Given the description of an element on the screen output the (x, y) to click on. 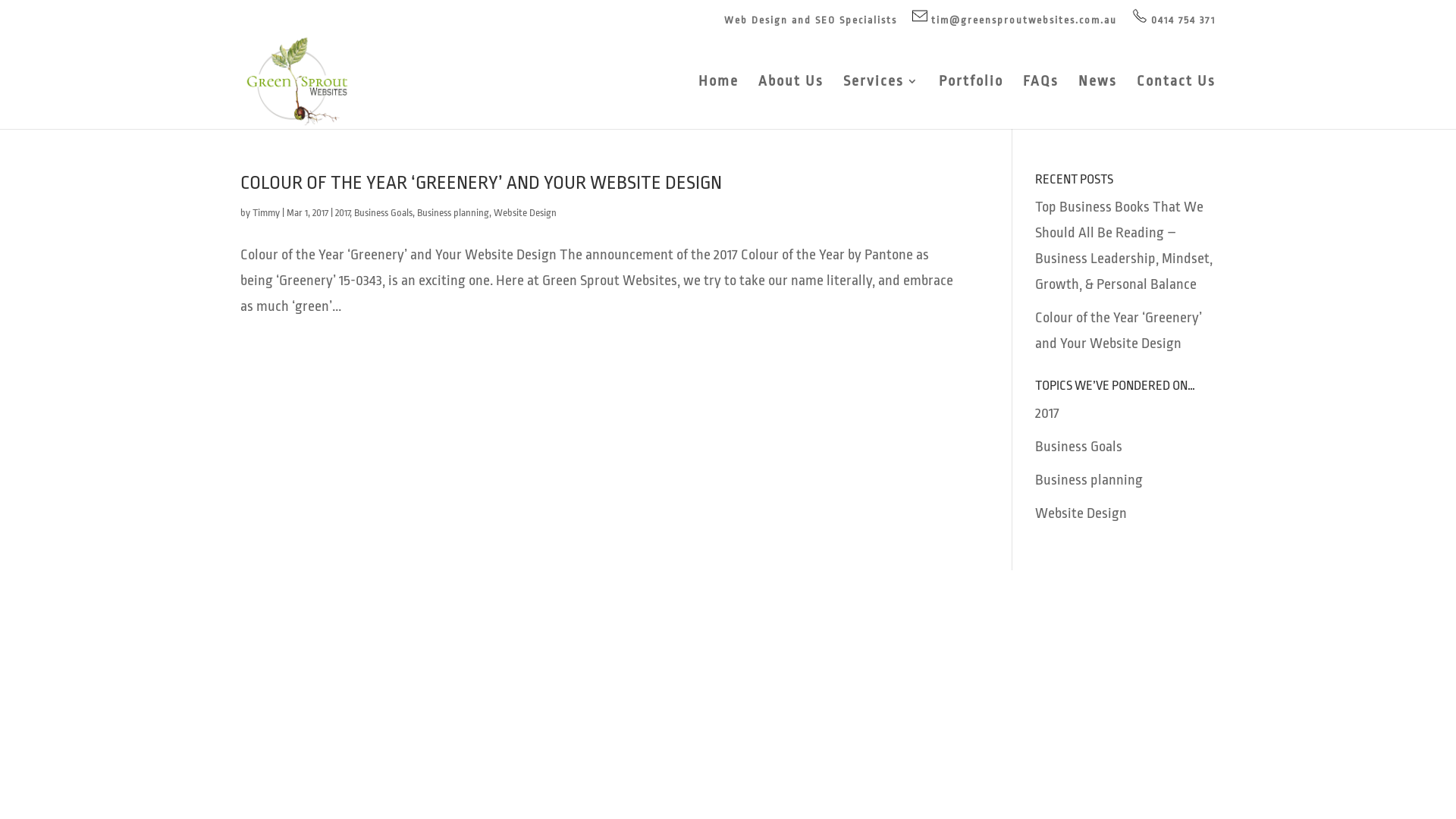
News Element type: text (1097, 101)
Portfolio Element type: text (970, 101)
Website Design Element type: text (524, 212)
Business planning Element type: text (1088, 479)
Timmy Element type: text (265, 212)
Services Element type: text (881, 101)
Website Design Element type: text (1080, 513)
0414 754 371 Element type: text (1173, 20)
FAQs Element type: text (1040, 101)
2017 Element type: text (342, 212)
2017 Element type: text (1047, 412)
Business Goals Element type: text (383, 212)
Web Design and SEO Specialists Element type: text (810, 24)
tim@greensproutwebsites.com.au Element type: text (1014, 20)
Business Goals Element type: text (1078, 446)
Home Element type: text (718, 101)
About Us Element type: text (790, 101)
Contact Us Element type: text (1175, 101)
Business planning Element type: text (453, 212)
